Given the description of an element on the screen output the (x, y) to click on. 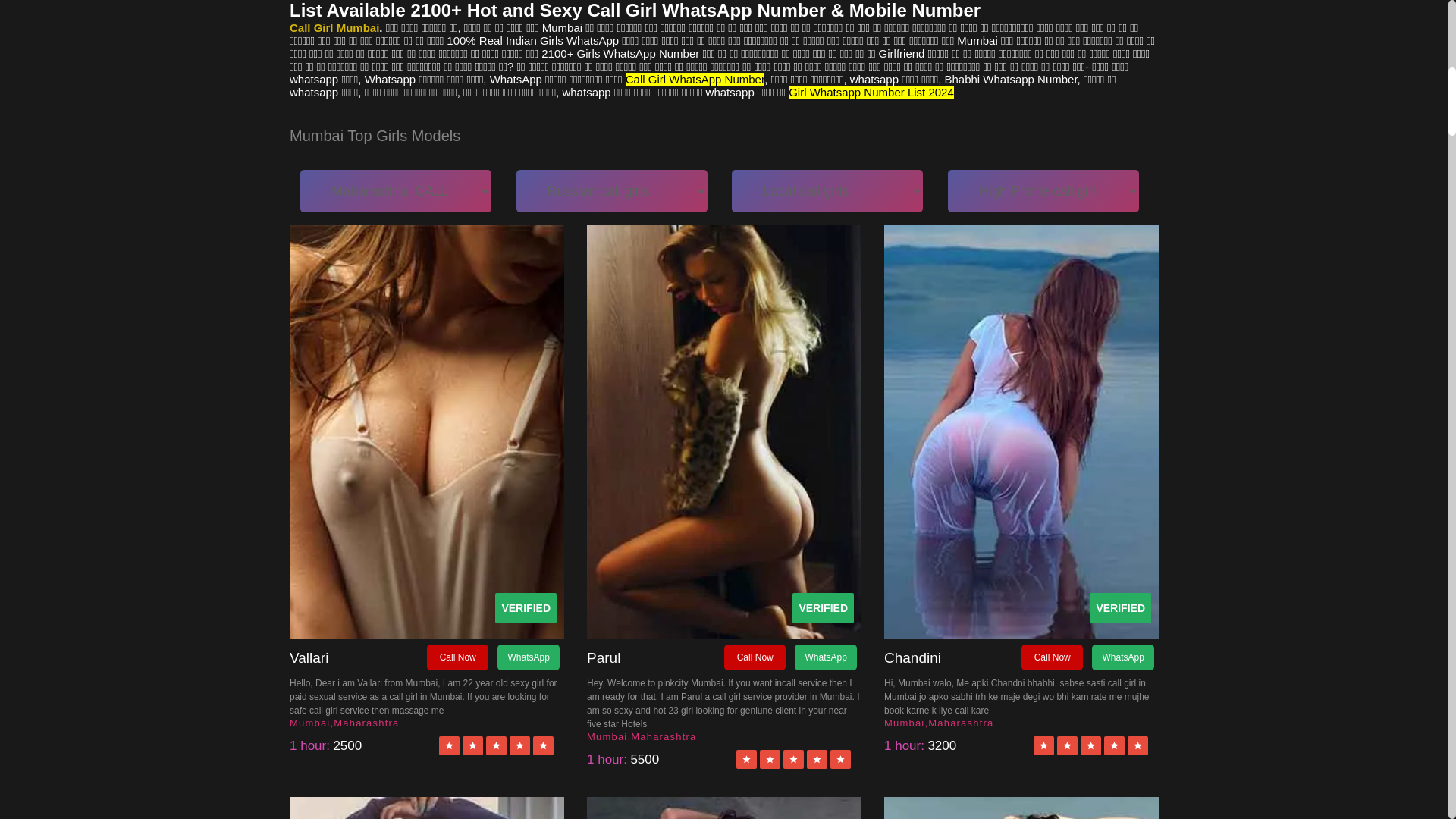
WhatsApp (528, 657)
Parul (654, 658)
WhatsApp (1122, 657)
Call Girl Mumbai (333, 27)
Call Now (1052, 657)
WhatsApp (825, 657)
Vallari (357, 658)
Call Now (456, 657)
Chandini (952, 658)
Call Now (754, 657)
